Given the description of an element on the screen output the (x, y) to click on. 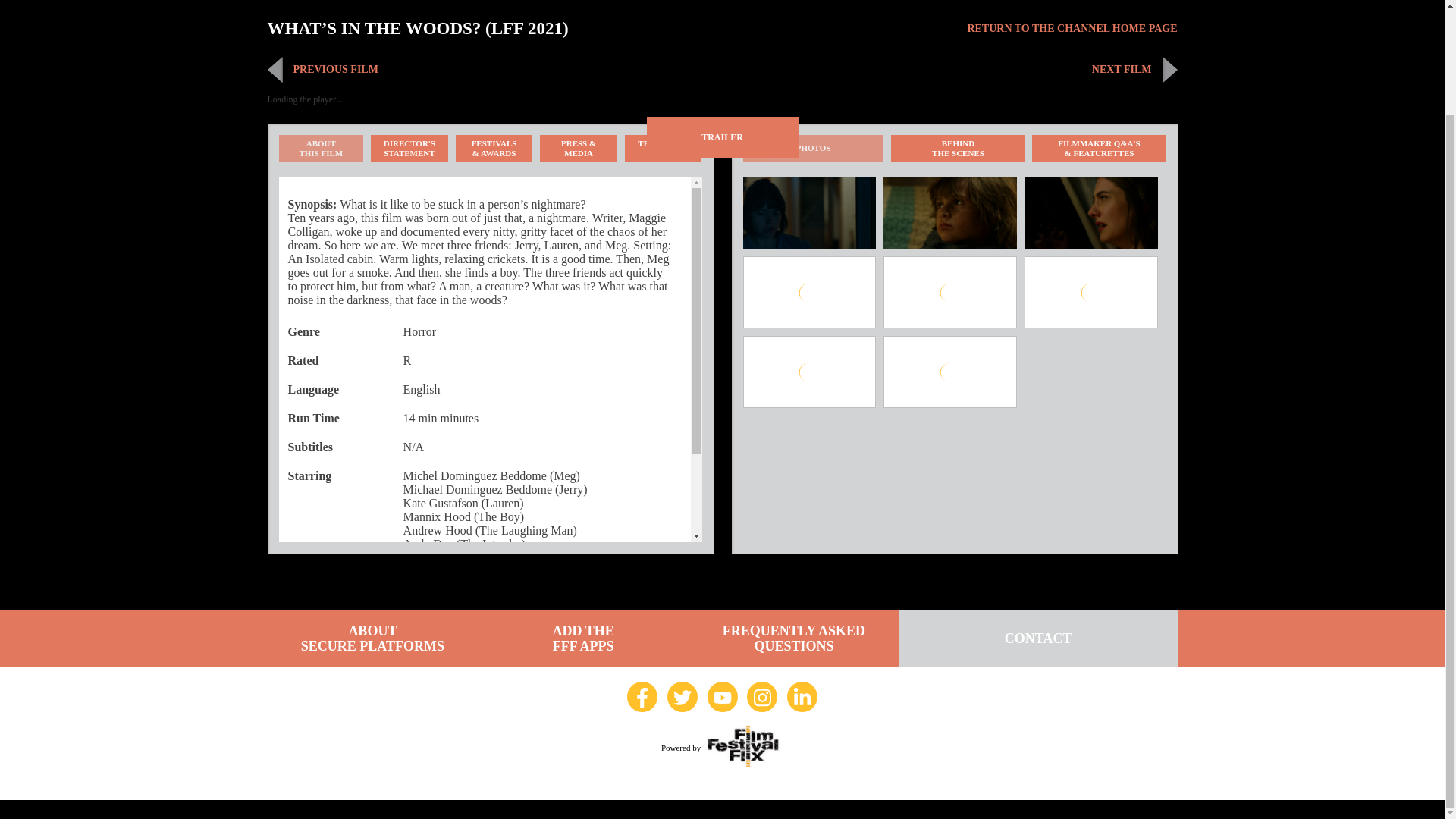
TRAILER (958, 148)
NEXT FILM (721, 137)
PREVIOUS FILM (949, 69)
RETURN TO THE CHANNEL HOME PAGE (494, 69)
PHOTOS (321, 148)
